Given the description of an element on the screen output the (x, y) to click on. 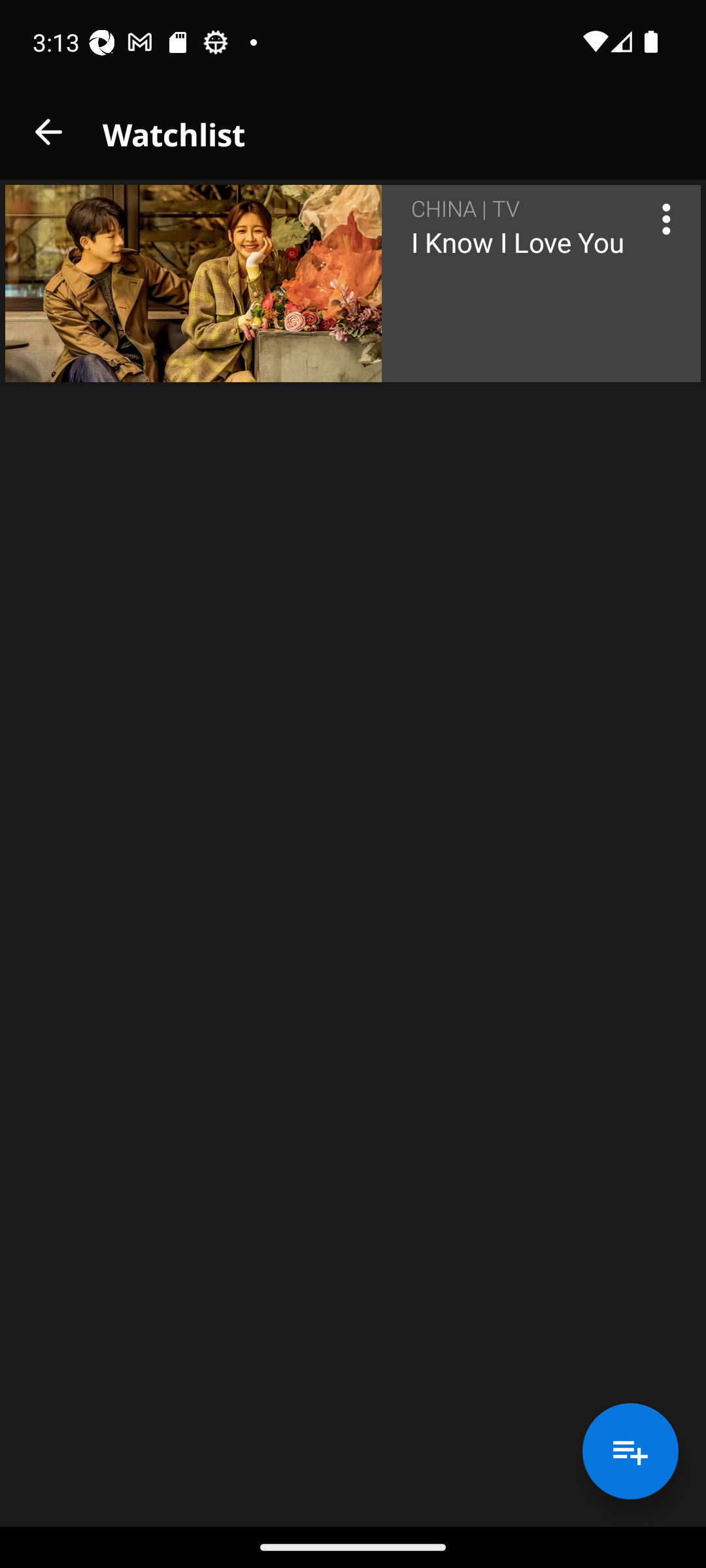
close_button (48, 131)
resource_cell CHINA | TV I Know I Love You (353, 283)
